Given the description of an element on the screen output the (x, y) to click on. 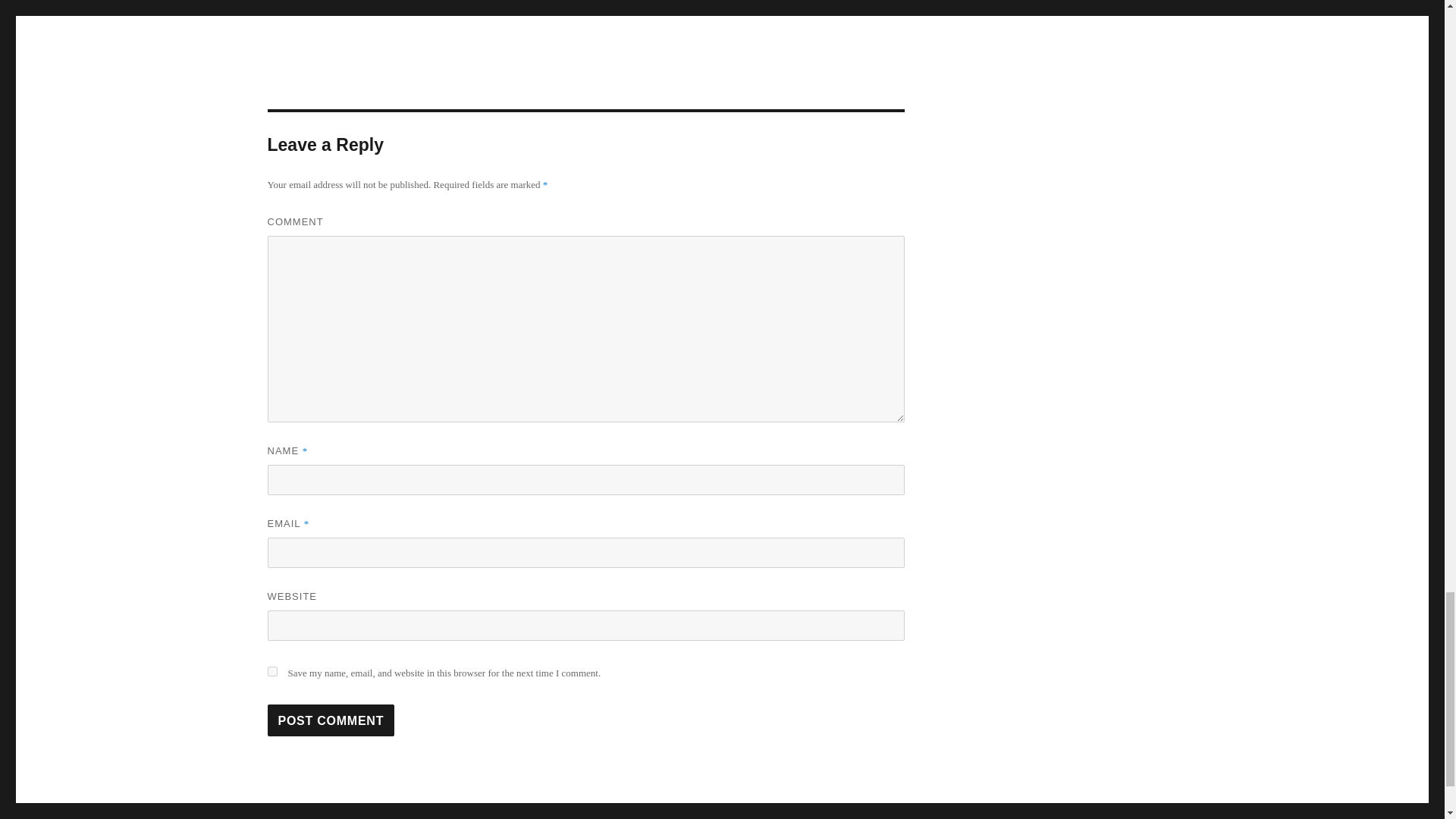
yes (271, 671)
Post Comment (330, 720)
Post Comment (330, 720)
